Given the description of an element on the screen output the (x, y) to click on. 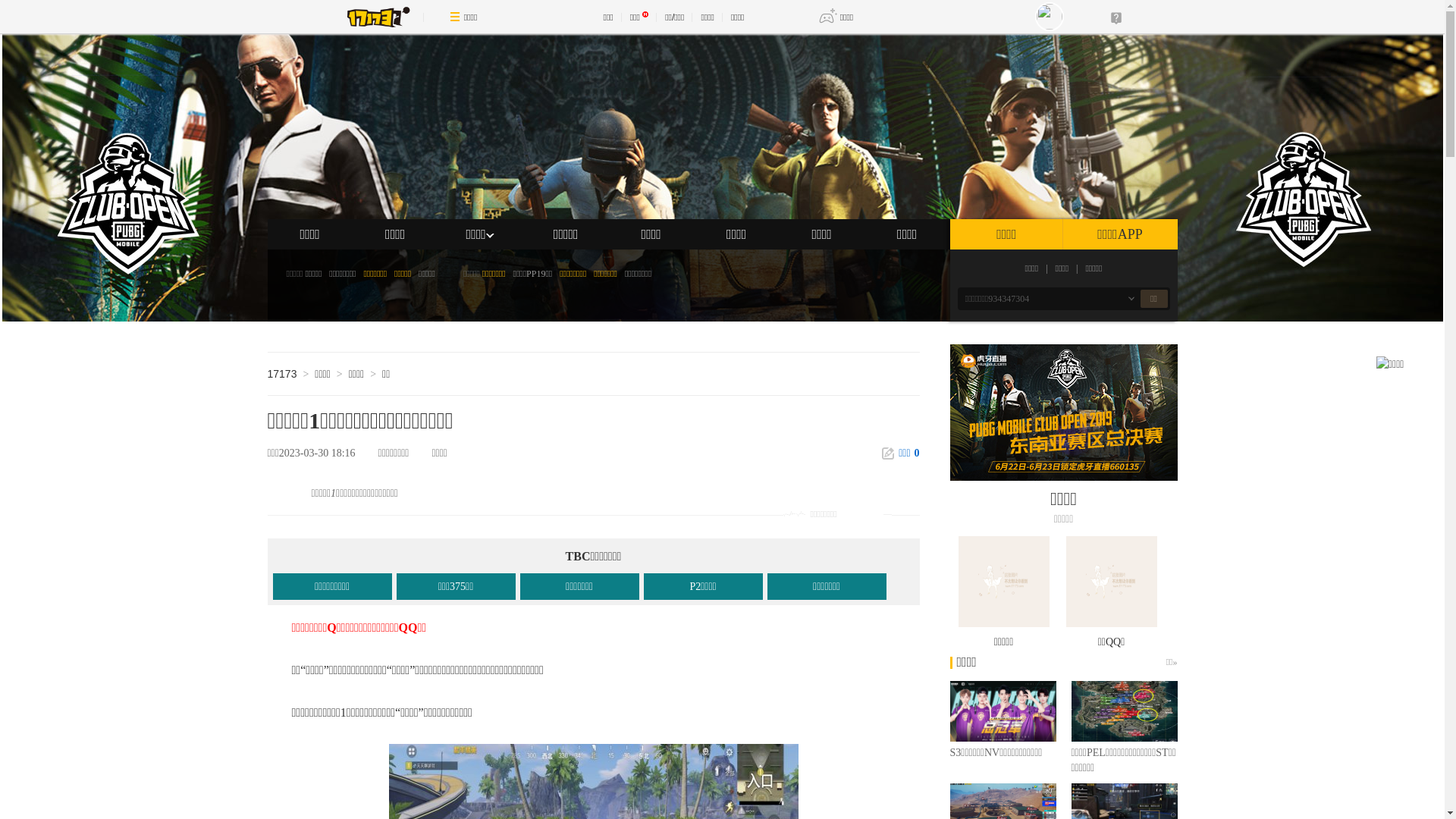
17173 Element type: text (281, 373)
